Given the description of an element on the screen output the (x, y) to click on. 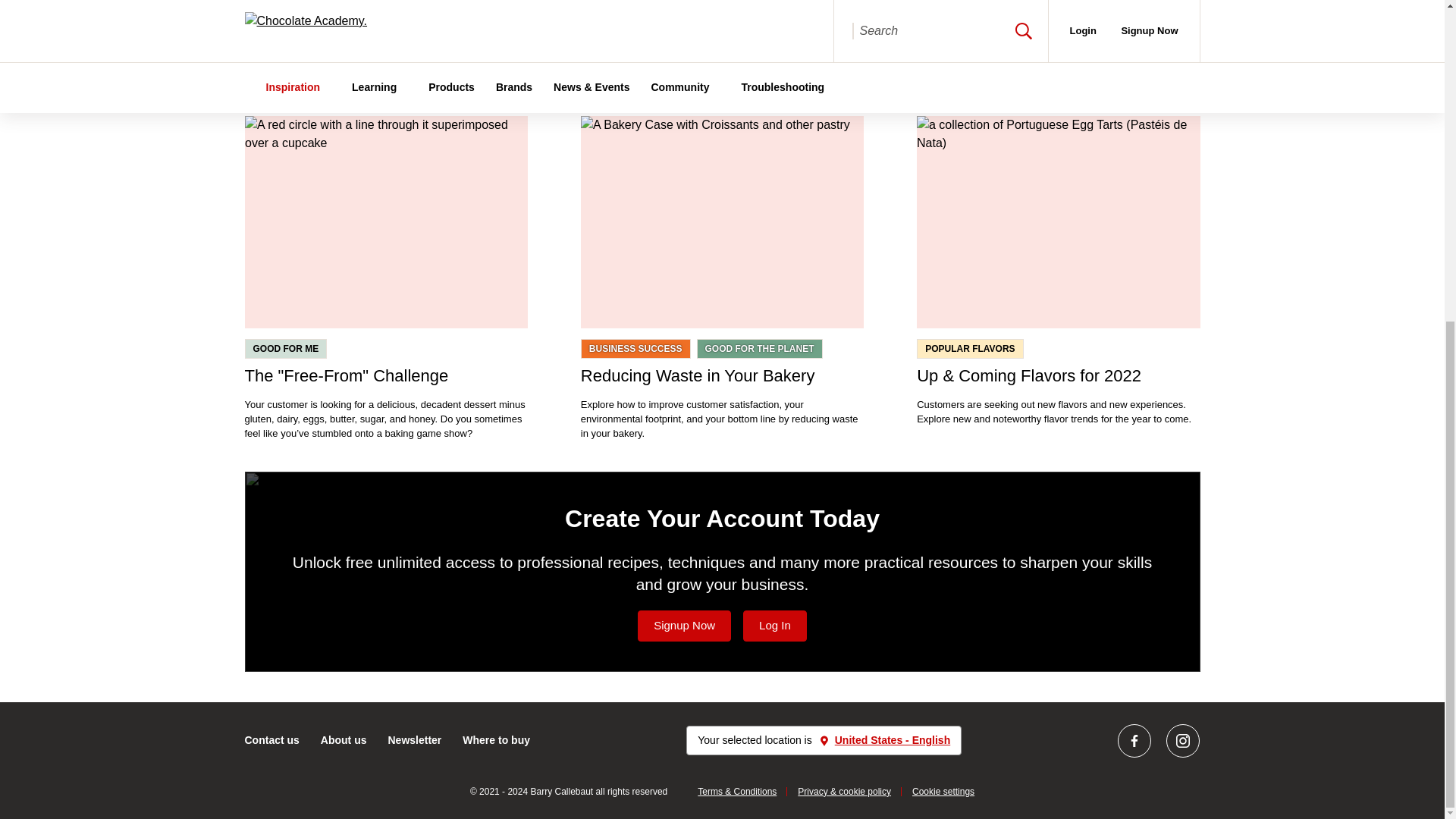
Sustainable Ingredients: A Closer Look (1058, 15)
